Given the description of an element on the screen output the (x, y) to click on. 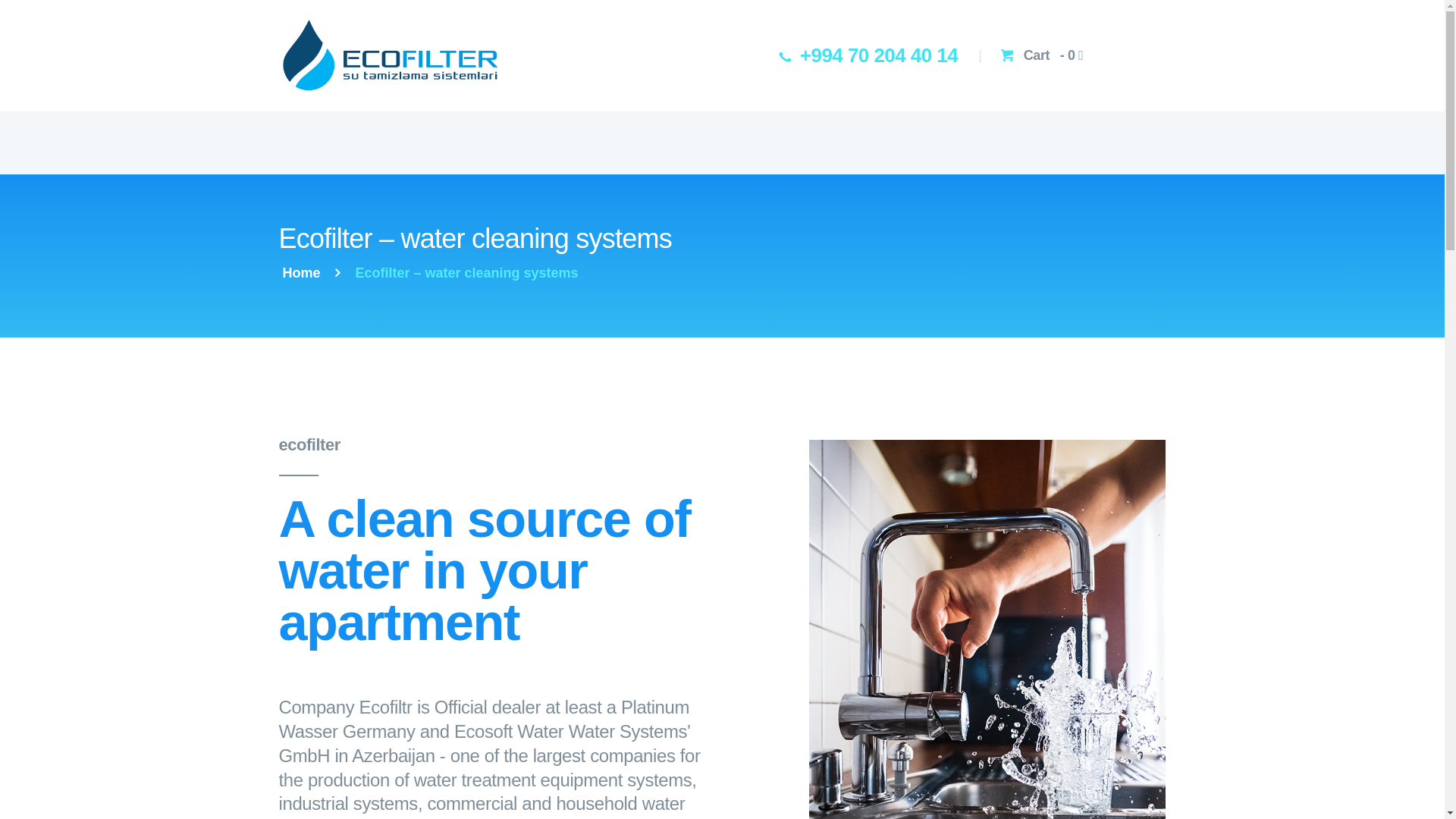
Home (301, 273)
